Given the description of an element on the screen output the (x, y) to click on. 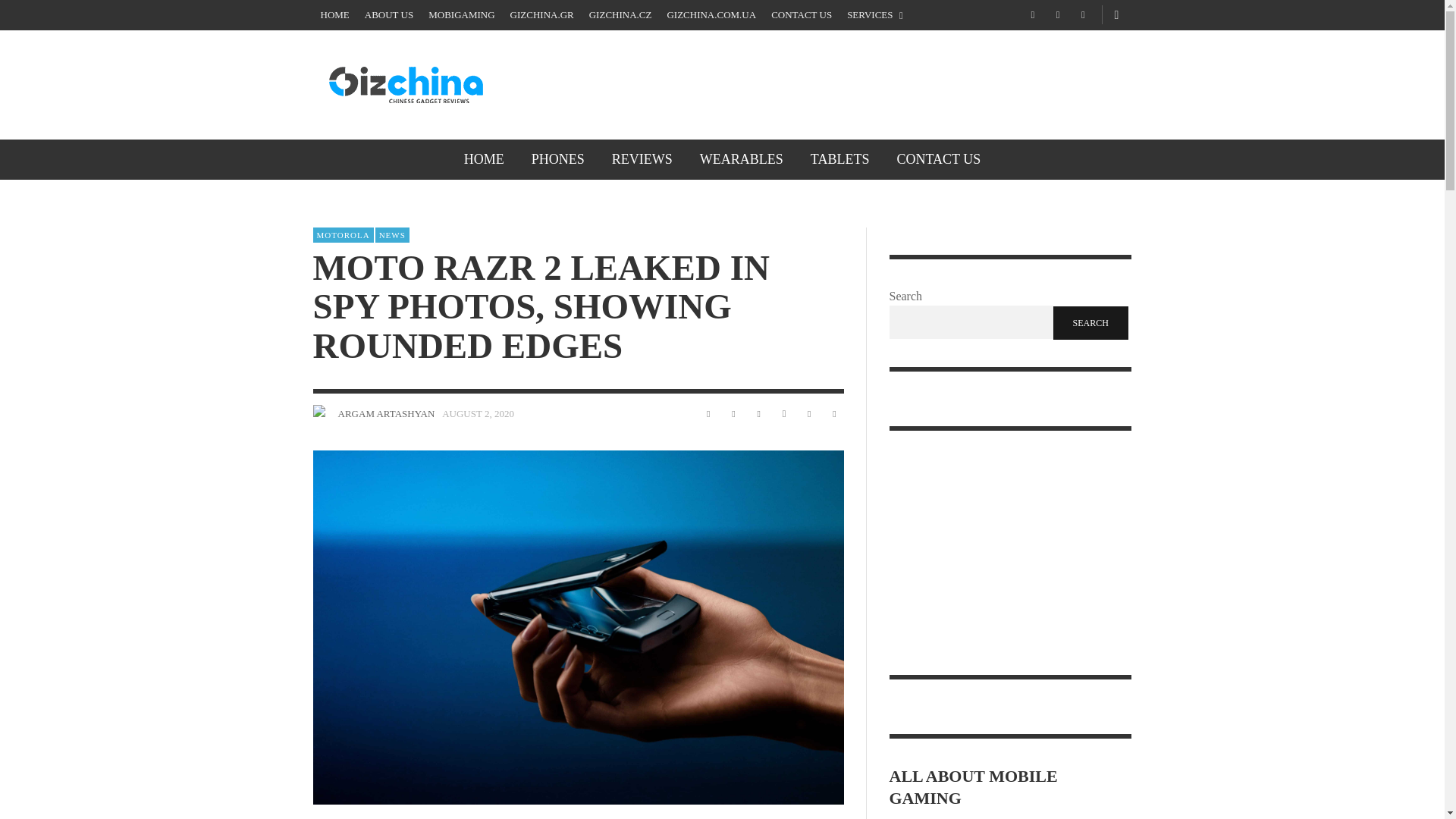
CONTACT US (801, 15)
GIZCHINA.CZ (619, 15)
MOBIGAMING (461, 15)
REVIEWS (641, 159)
GIZCHINA.GR (541, 15)
HOME (483, 159)
GIZCHINA.COM.UA (710, 15)
SERVICES (875, 15)
HOME (334, 15)
PHONES (558, 159)
